Given the description of an element on the screen output the (x, y) to click on. 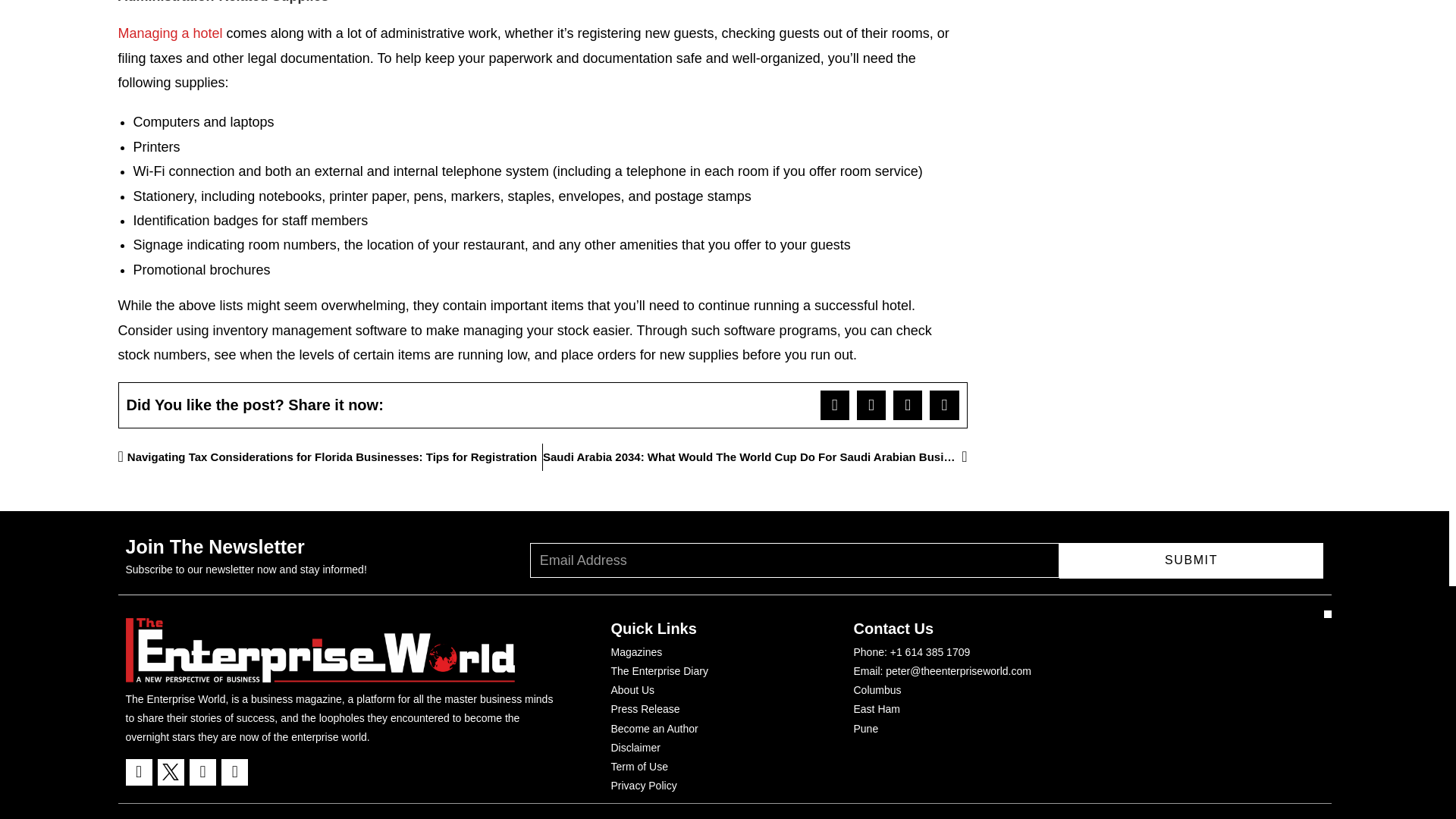
Managing a hotel (169, 32)
About Us (633, 690)
SUBMIT (1191, 560)
Magazines (636, 651)
The Enterprise Diary (659, 670)
